Given the description of an element on the screen output the (x, y) to click on. 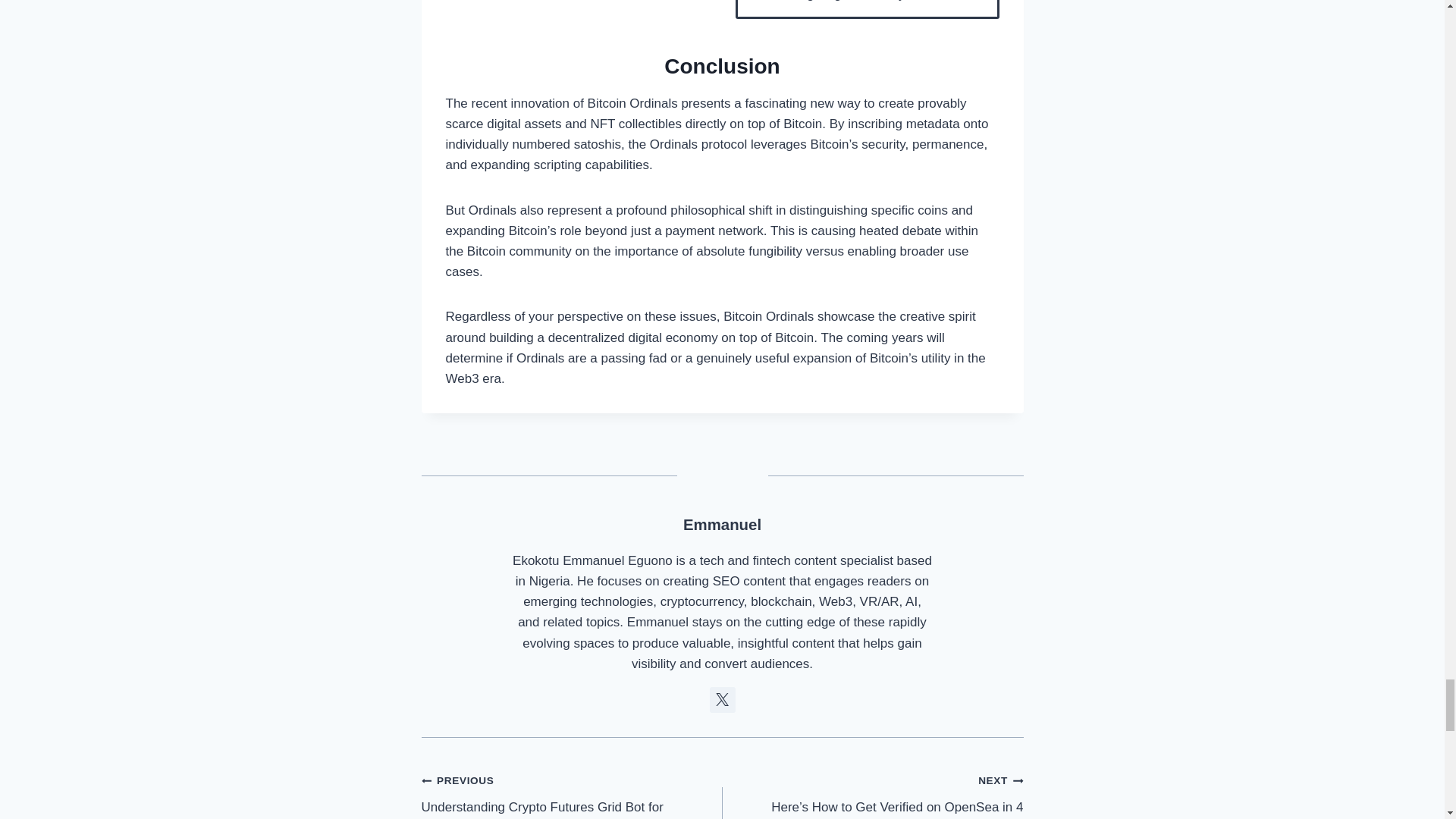
Follow Emmanuel on X formerly Twitter (722, 699)
Posts by Emmanuel (721, 524)
